Given the description of an element on the screen output the (x, y) to click on. 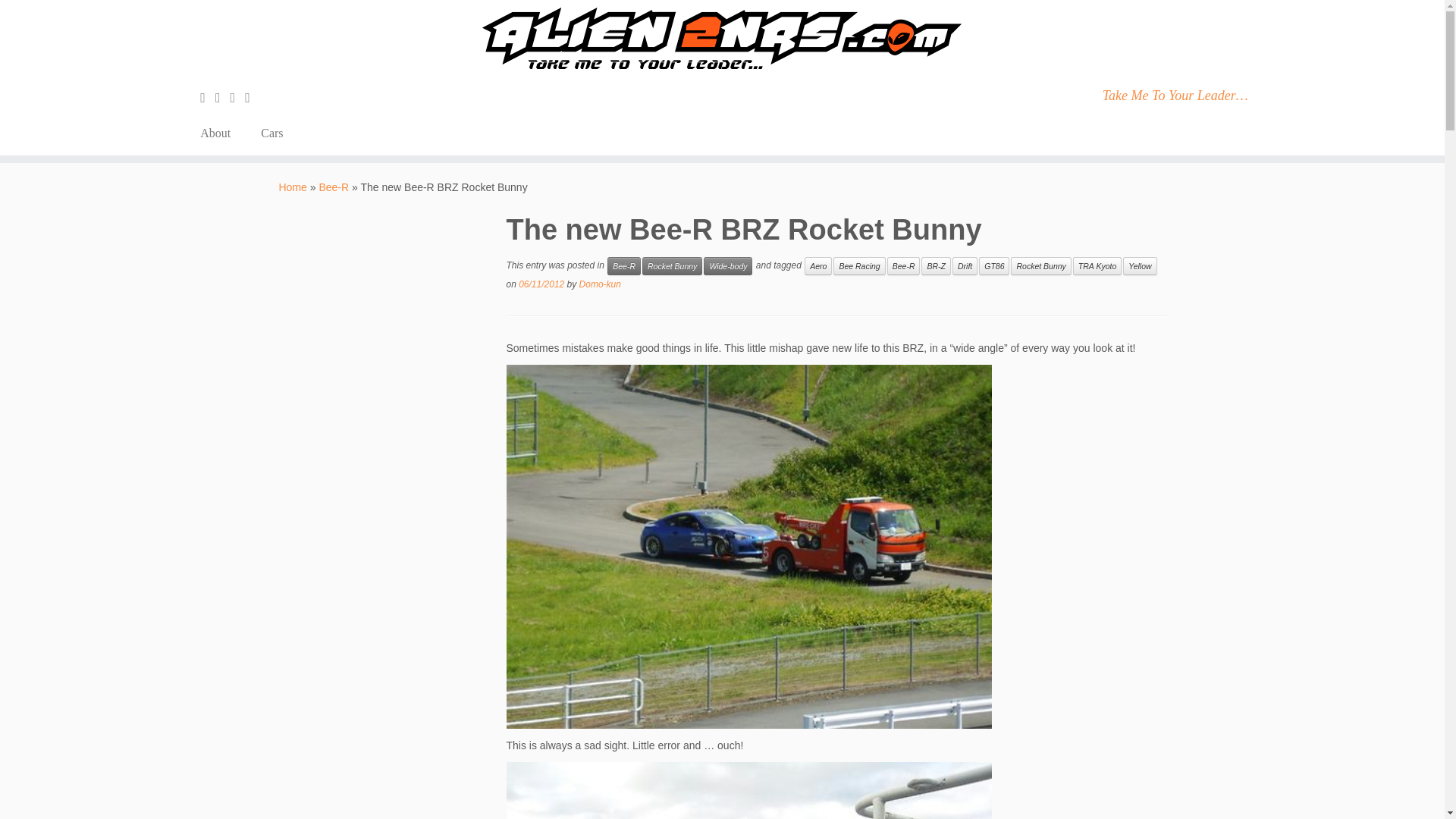
About (221, 133)
Domo-kun (600, 284)
Rocket Bunny (1040, 266)
Aero (818, 266)
GT86 (993, 266)
Subscribe to my rss feed (207, 97)
View all posts in Bee Racing (858, 266)
Bee-R (623, 266)
Follow me on Twitter (222, 97)
Follow me on Instagram (238, 97)
